Given the description of an element on the screen output the (x, y) to click on. 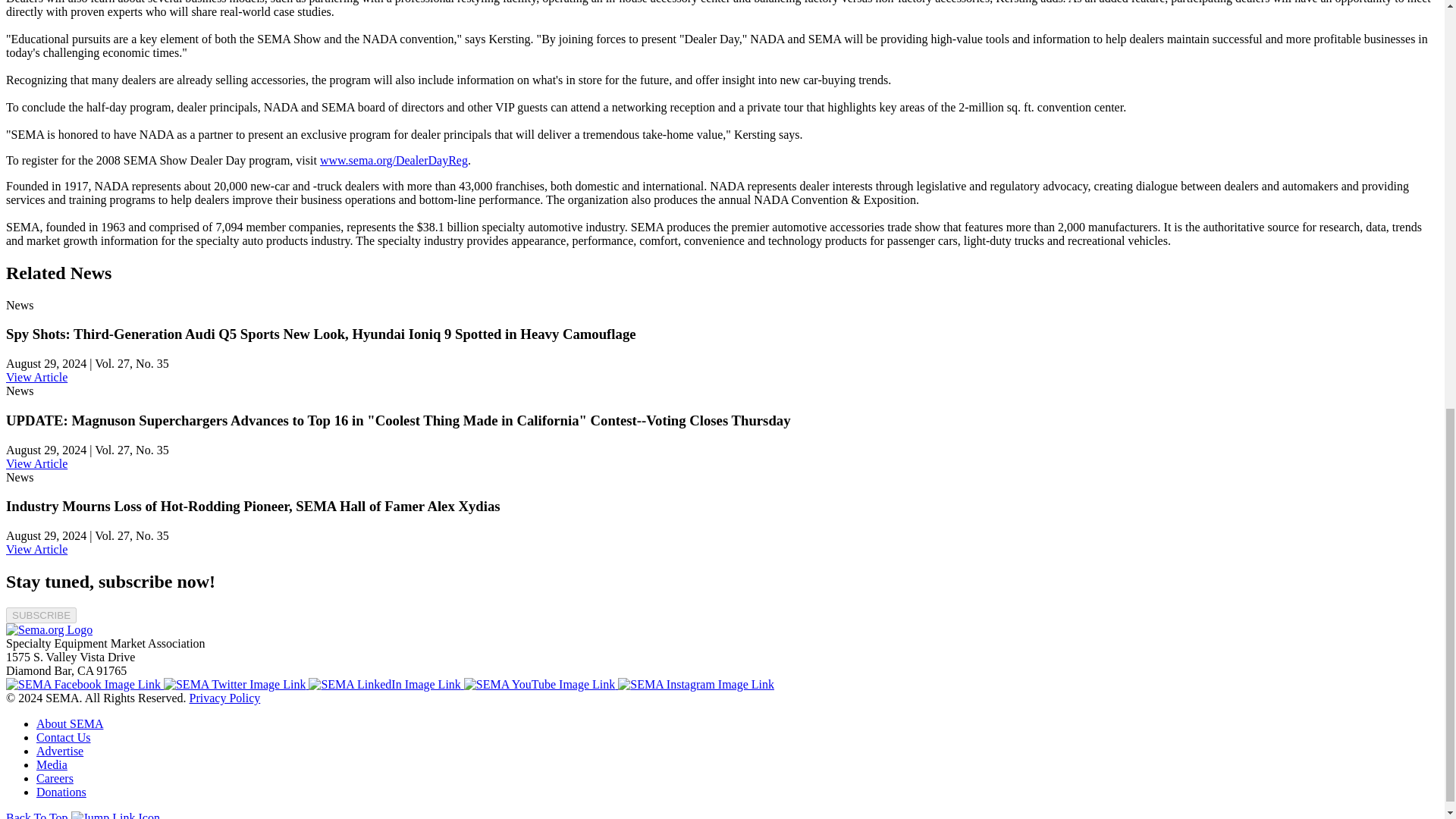
View Article (35, 549)
View Article (35, 377)
SEMA LinkedIn Link (385, 684)
View Article (35, 463)
SEMA Facebook Link (84, 684)
SUBSCRIBE (41, 615)
SEMA Twitter Link (235, 684)
SEMA YouTube Link (540, 684)
SEMA Instagram Link (695, 684)
Privacy Policy (224, 697)
